Given the description of an element on the screen output the (x, y) to click on. 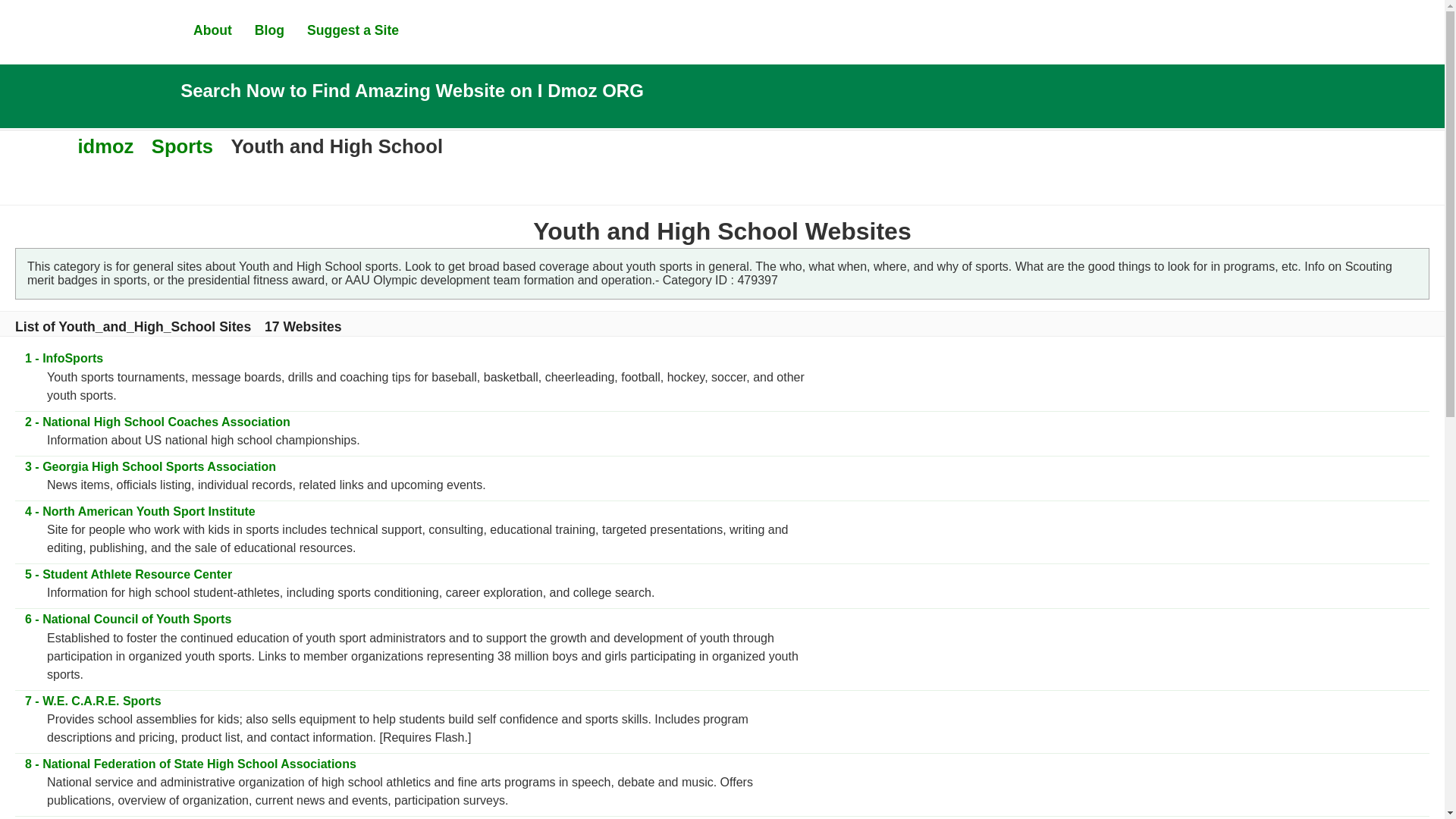
Sports (181, 146)
About (212, 30)
6 - National Council of Youth Sports (127, 618)
Blog (269, 30)
DMOZ (87, 30)
8 - National Federation of State High School Associations (189, 763)
5 - Student Athlete Resource Center (127, 574)
idmoz (105, 146)
4 - North American Youth Sport Institute (139, 511)
3 - Georgia High School Sports Association (149, 466)
7 - W.E. C.A.R.E. Sports (92, 700)
1 - InfoSports (63, 358)
2 - National High School Coaches Association (156, 421)
Suggest a Site (352, 30)
